Given the description of an element on the screen output the (x, y) to click on. 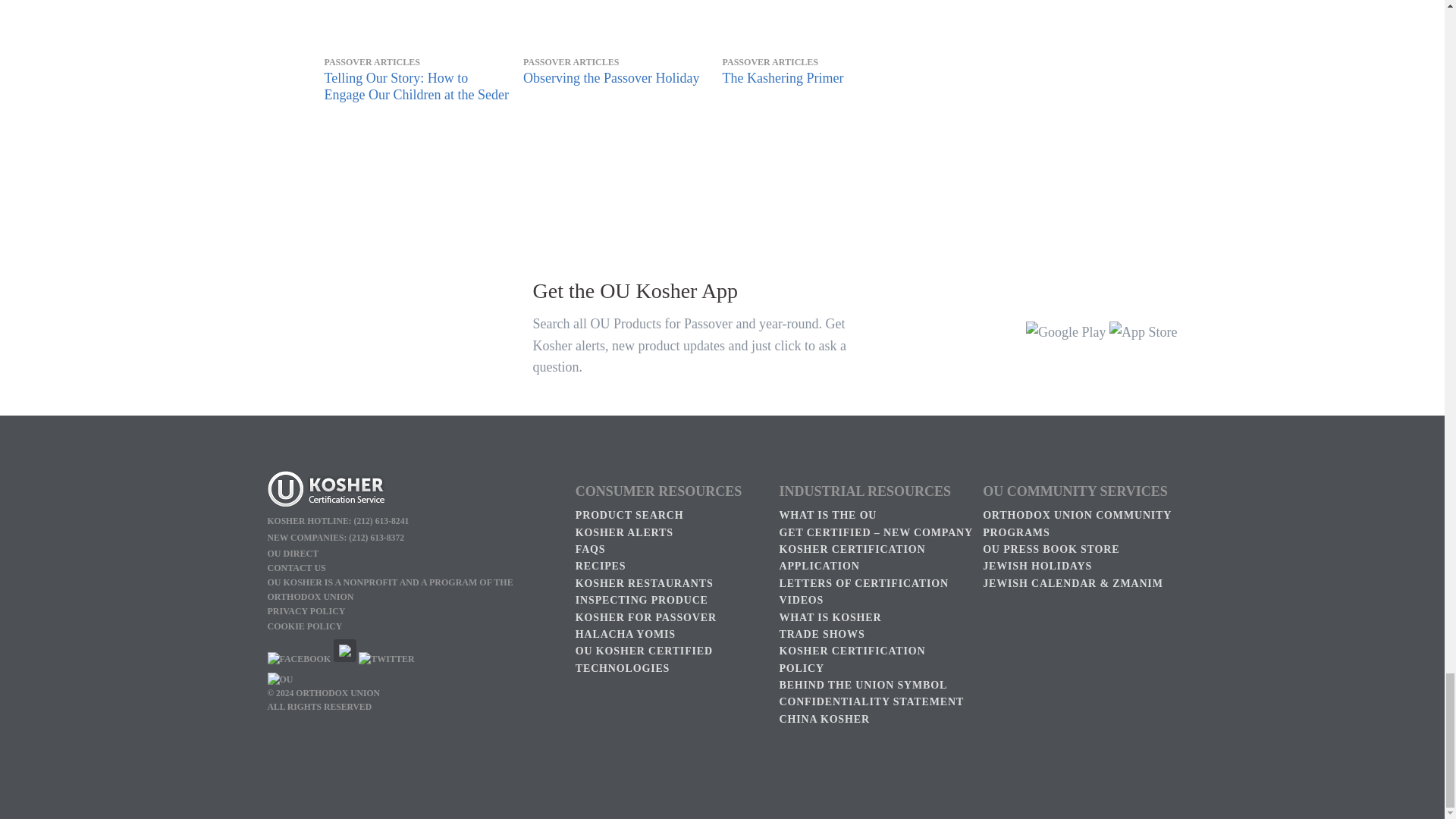
OU Kosher (413, 491)
OU Kosher (344, 658)
OU Kosher (298, 658)
OU Kosher (385, 658)
